Given the description of an element on the screen output the (x, y) to click on. 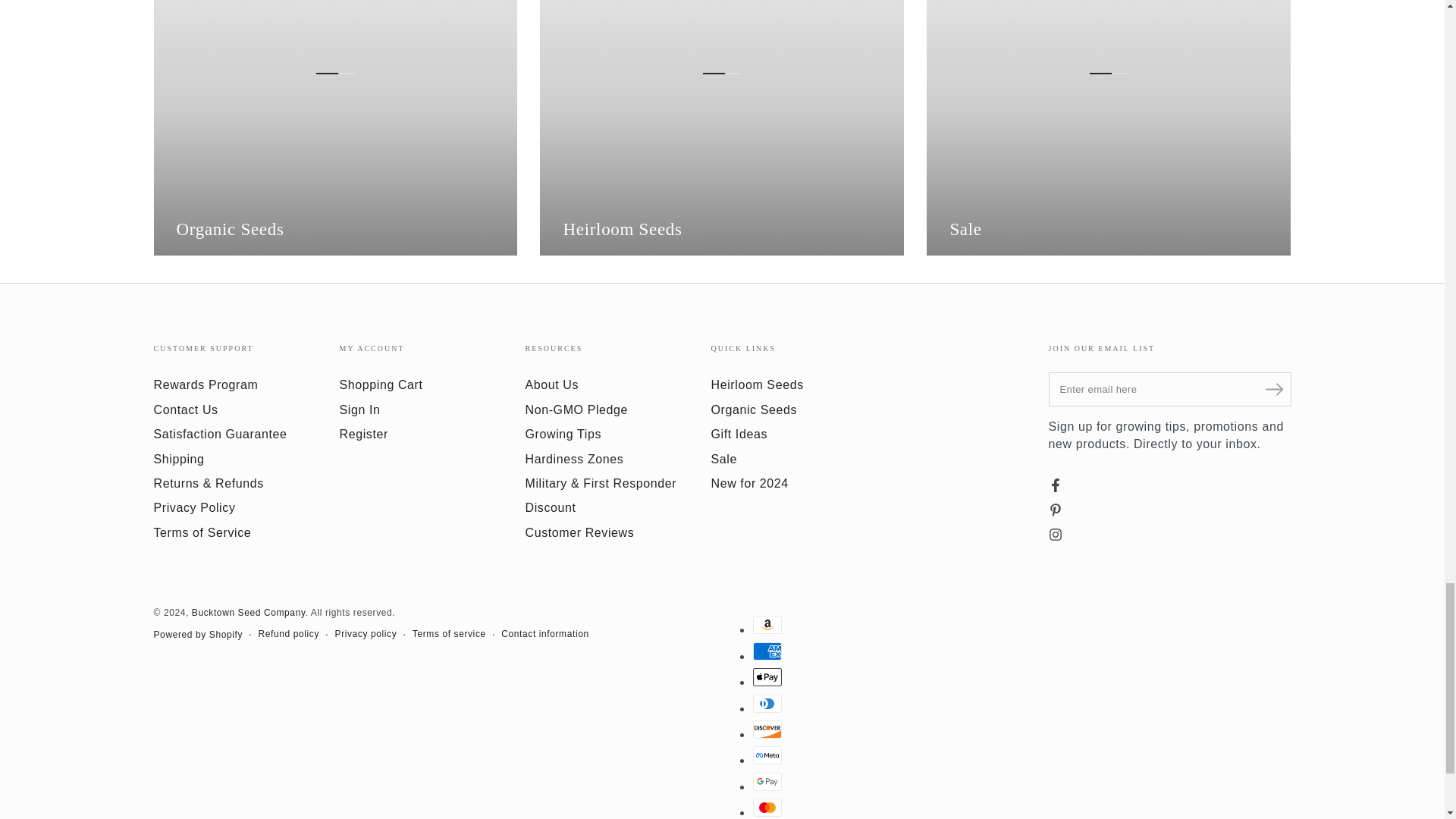
American Express (766, 651)
Discover (766, 729)
Google Pay (766, 782)
Apple Pay (766, 677)
Meta Pay (766, 755)
Mastercard (766, 807)
Amazon (766, 624)
Diners Club (766, 703)
